Given the description of an element on the screen output the (x, y) to click on. 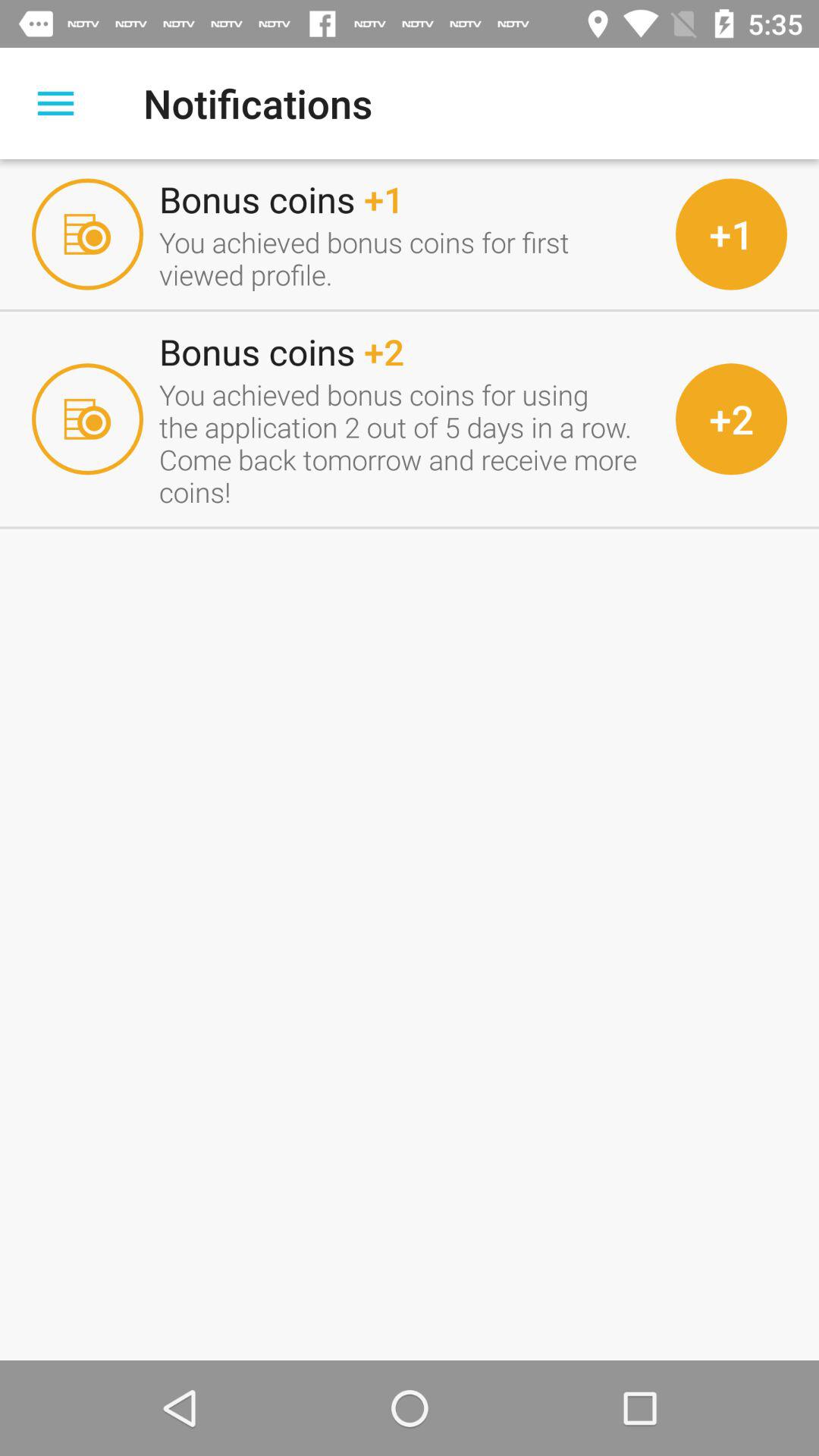
select icon next to the notifications icon (55, 103)
